Given the description of an element on the screen output the (x, y) to click on. 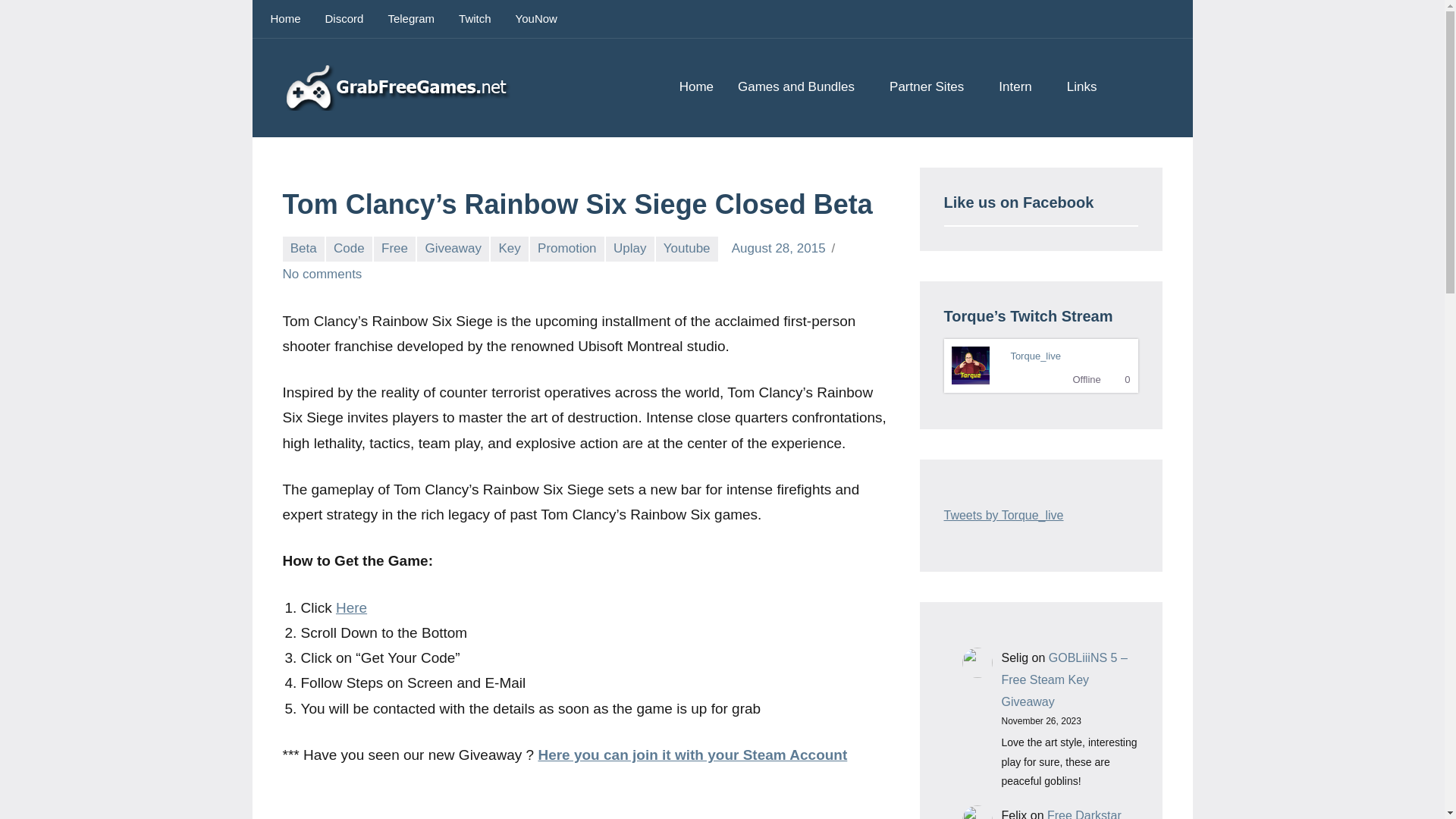
Home (285, 18)
Telegram (410, 18)
Discord (344, 18)
Beta (302, 248)
Code (349, 248)
Intern (1020, 88)
Partner Sites (931, 88)
Home (696, 88)
Games and Bundles (801, 88)
Twitch (474, 18)
